Given the description of an element on the screen output the (x, y) to click on. 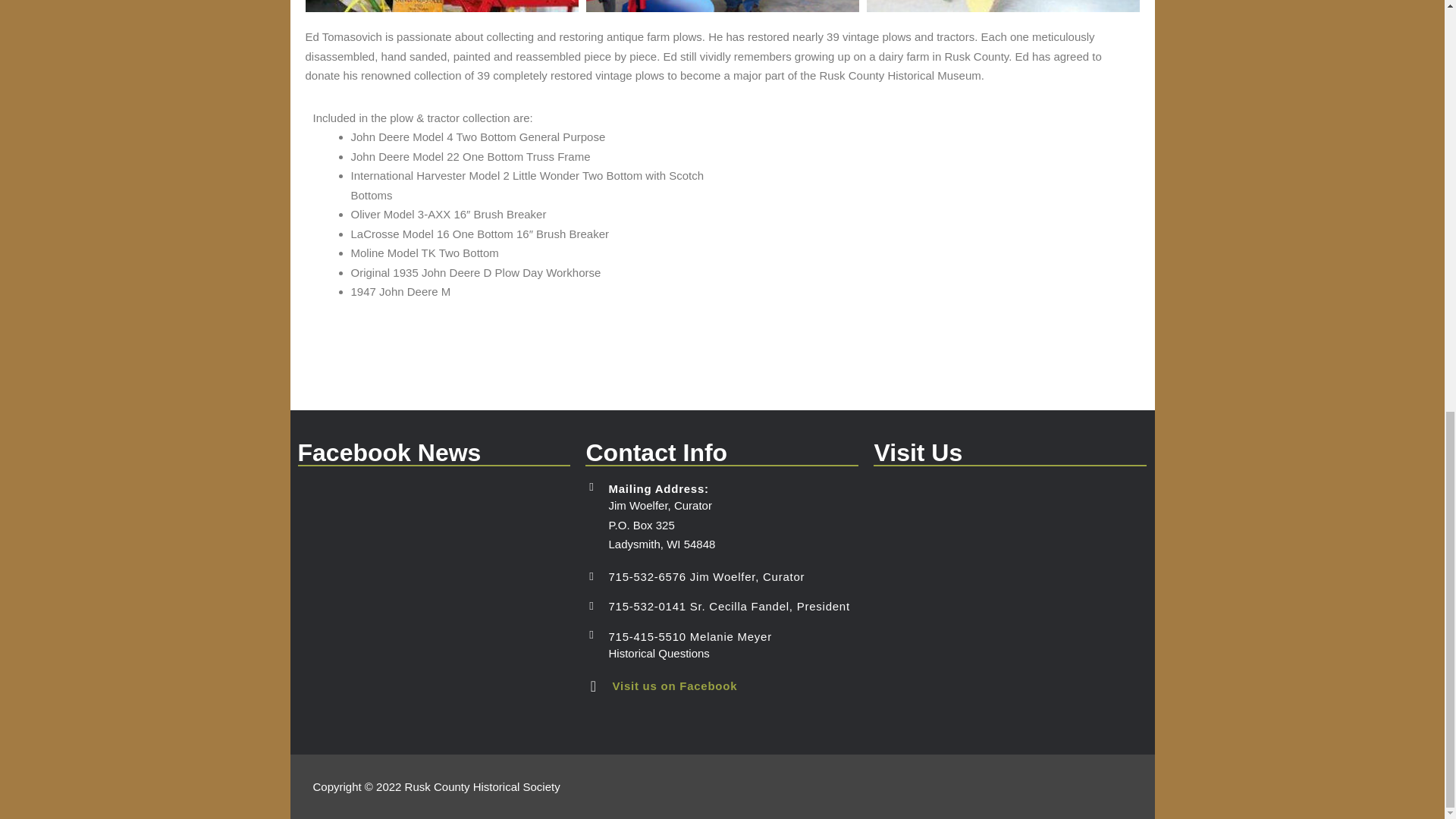
Visit us on Facebook (673, 685)
828 E. 3rd St. N., Ladysmith, WI 54848 (1010, 595)
